Given the description of an element on the screen output the (x, y) to click on. 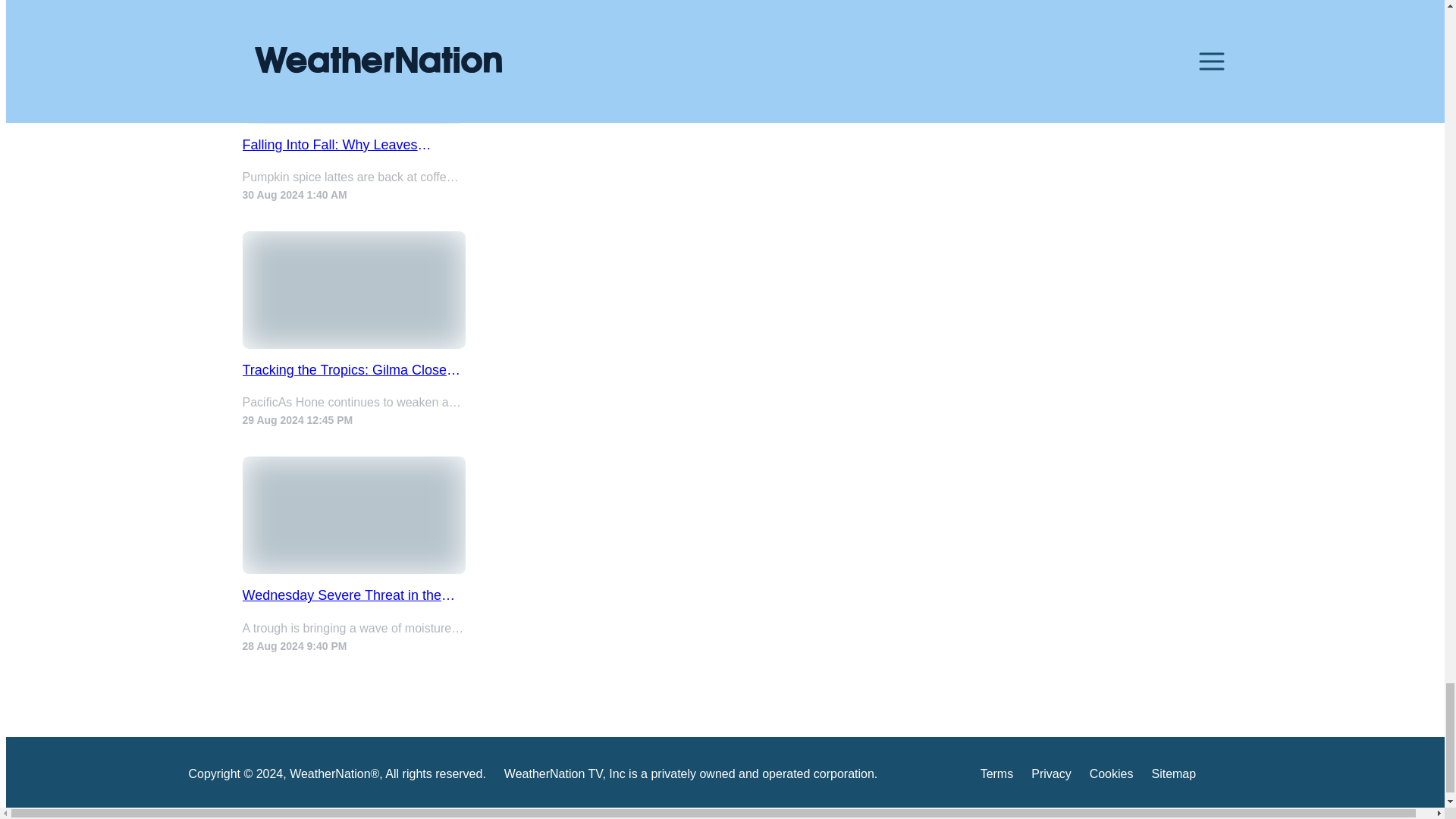
Falling Into Fall: Why Leaves Change Color (354, 145)
Wednesday Severe Threat in the Northern Plains (354, 595)
Terms (996, 776)
Privacy (1050, 776)
Cookies (1111, 776)
Sitemap (1173, 776)
